Given the description of an element on the screen output the (x, y) to click on. 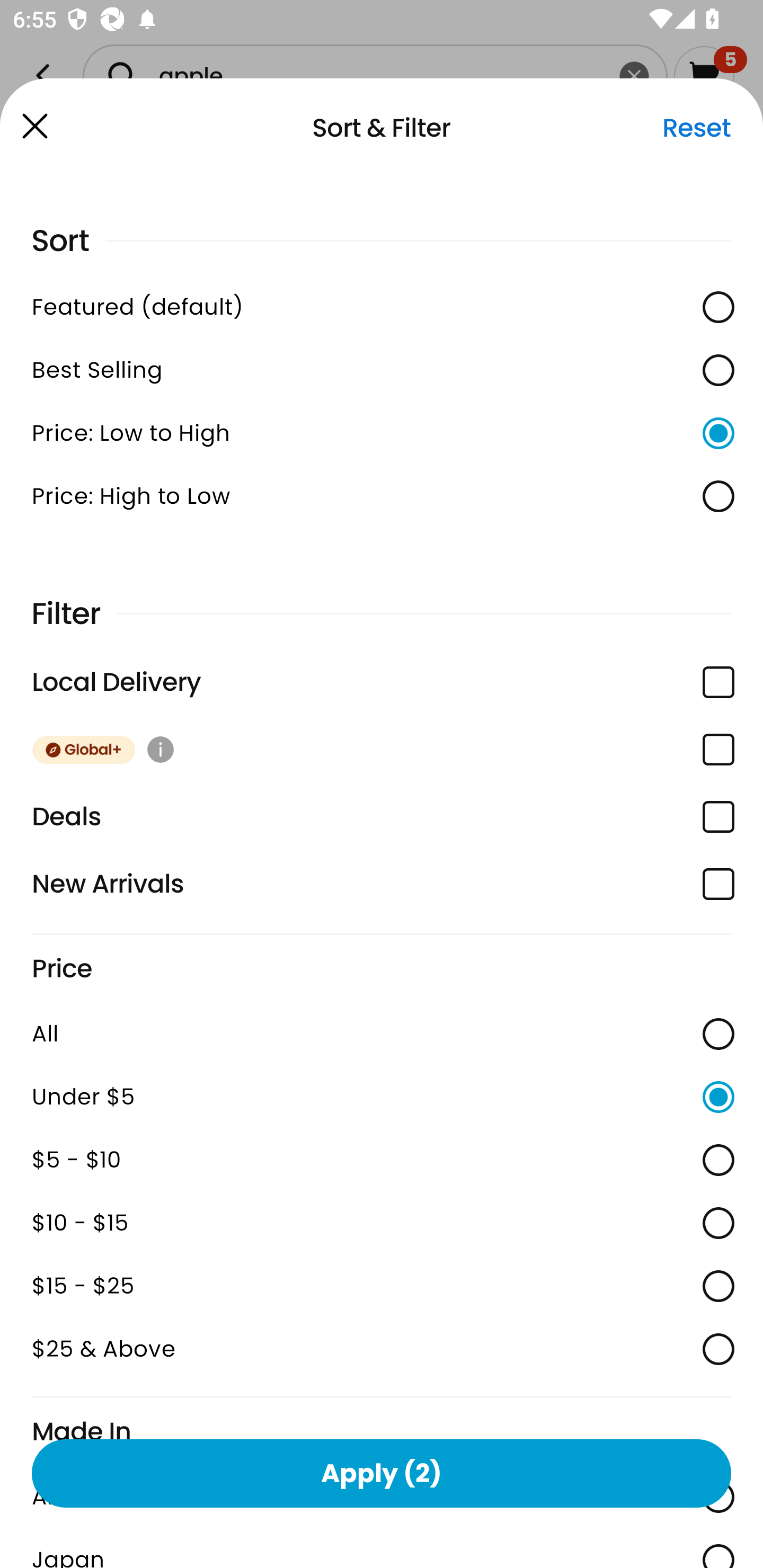
Reset (696, 127)
Apply (2) (381, 1472)
